Given the description of an element on the screen output the (x, y) to click on. 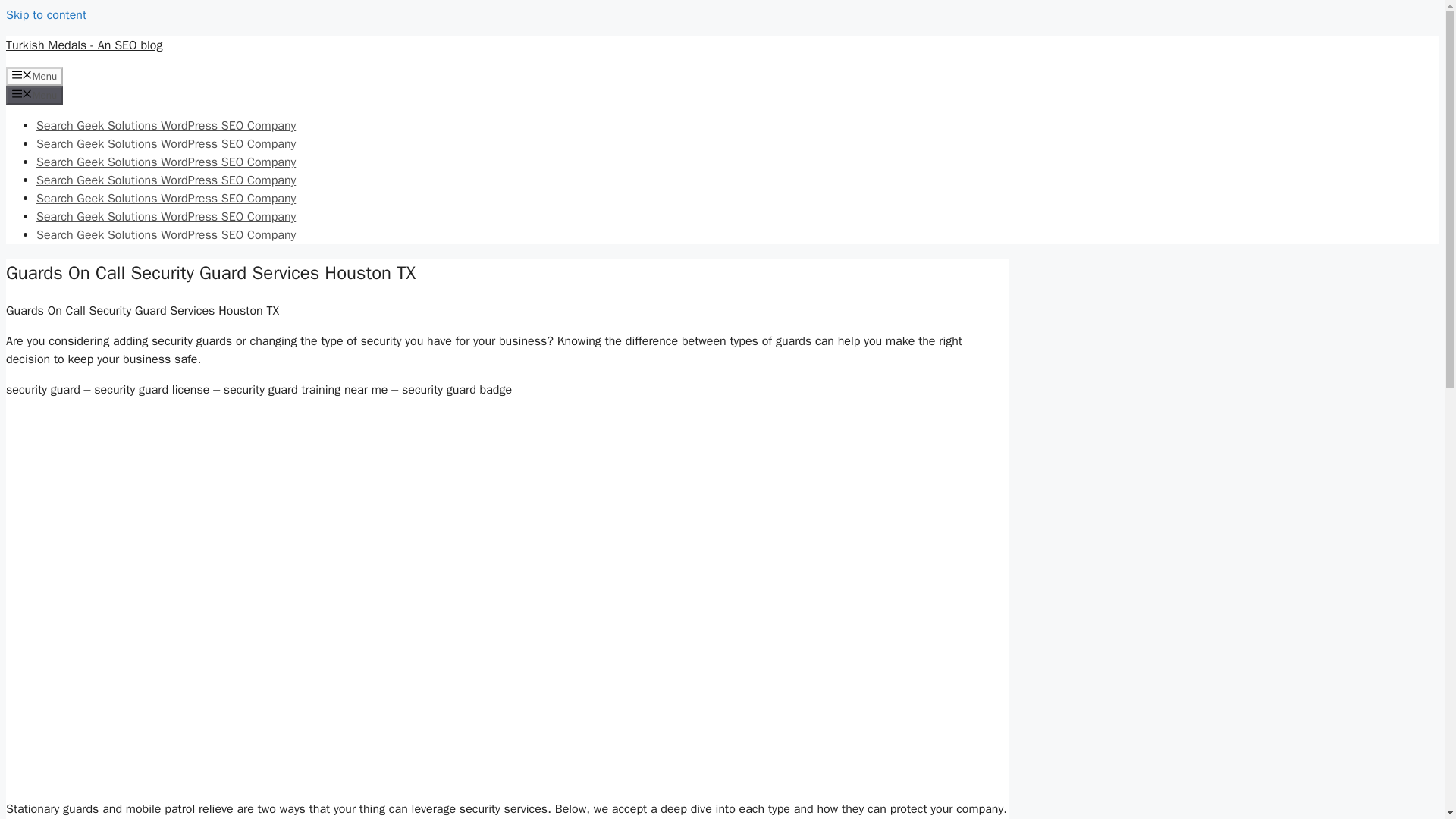
Search Geek Solutions WordPress SEO Company (165, 216)
Turkish Medals - An SEO blog (83, 45)
Search Geek Solutions WordPress SEO Company (165, 143)
Search Geek Solutions WordPress SEO Company (165, 180)
Search Geek Solutions WordPress SEO Company (165, 125)
Menu (33, 76)
Search Geek Solutions WordPress SEO Company (165, 161)
Skip to content (45, 14)
Search Geek Solutions WordPress SEO Company (165, 234)
Search Geek Solutions WordPress SEO Company (165, 198)
